Given the description of an element on the screen output the (x, y) to click on. 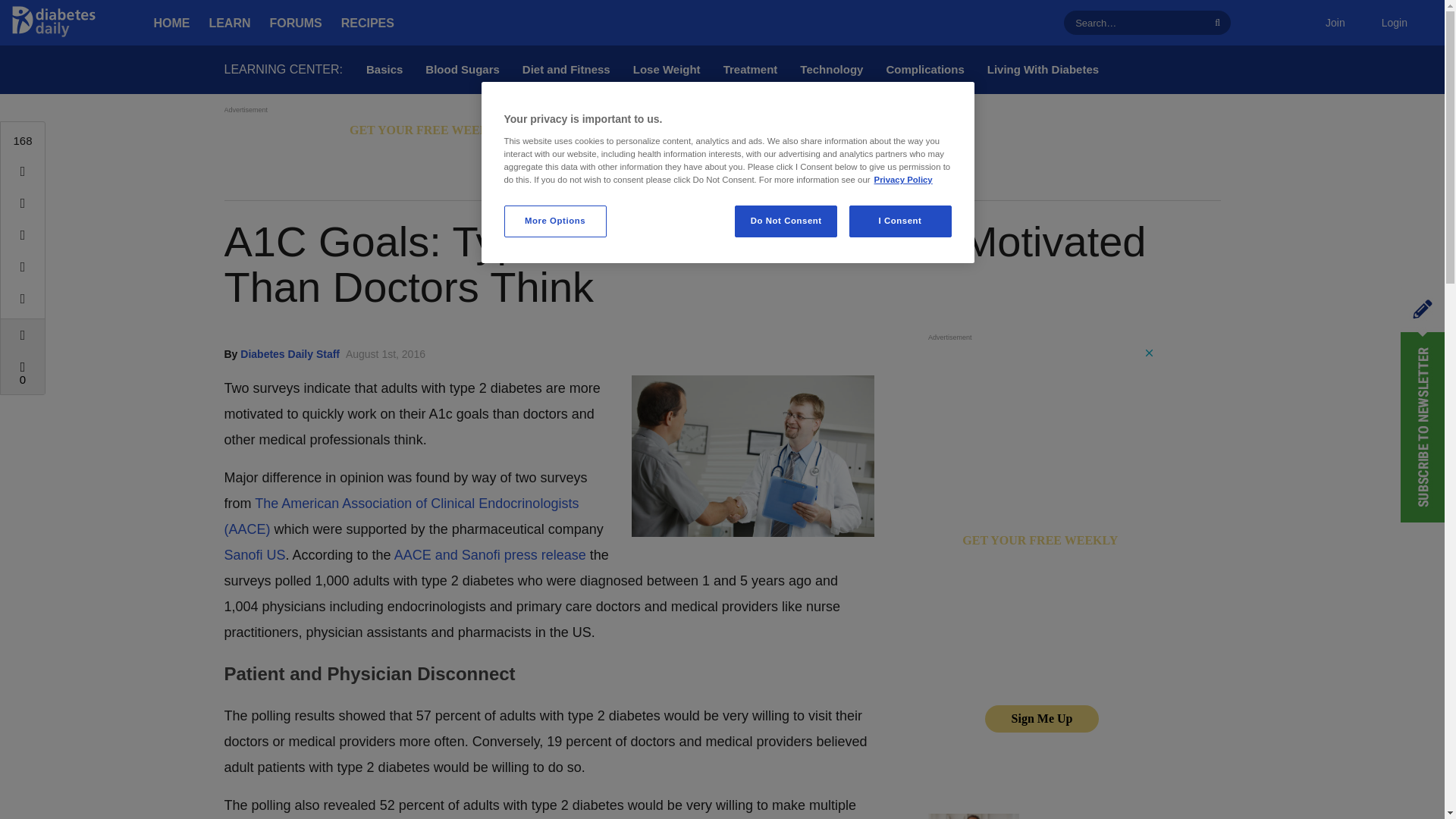
Login (1393, 22)
3rd party ad content (500, 151)
3rd party ad content (1042, 572)
FORUMS (295, 22)
HOME (171, 22)
RECIPES (367, 22)
Basics (384, 69)
Join (1334, 22)
LEARN (229, 22)
